Given the description of an element on the screen output the (x, y) to click on. 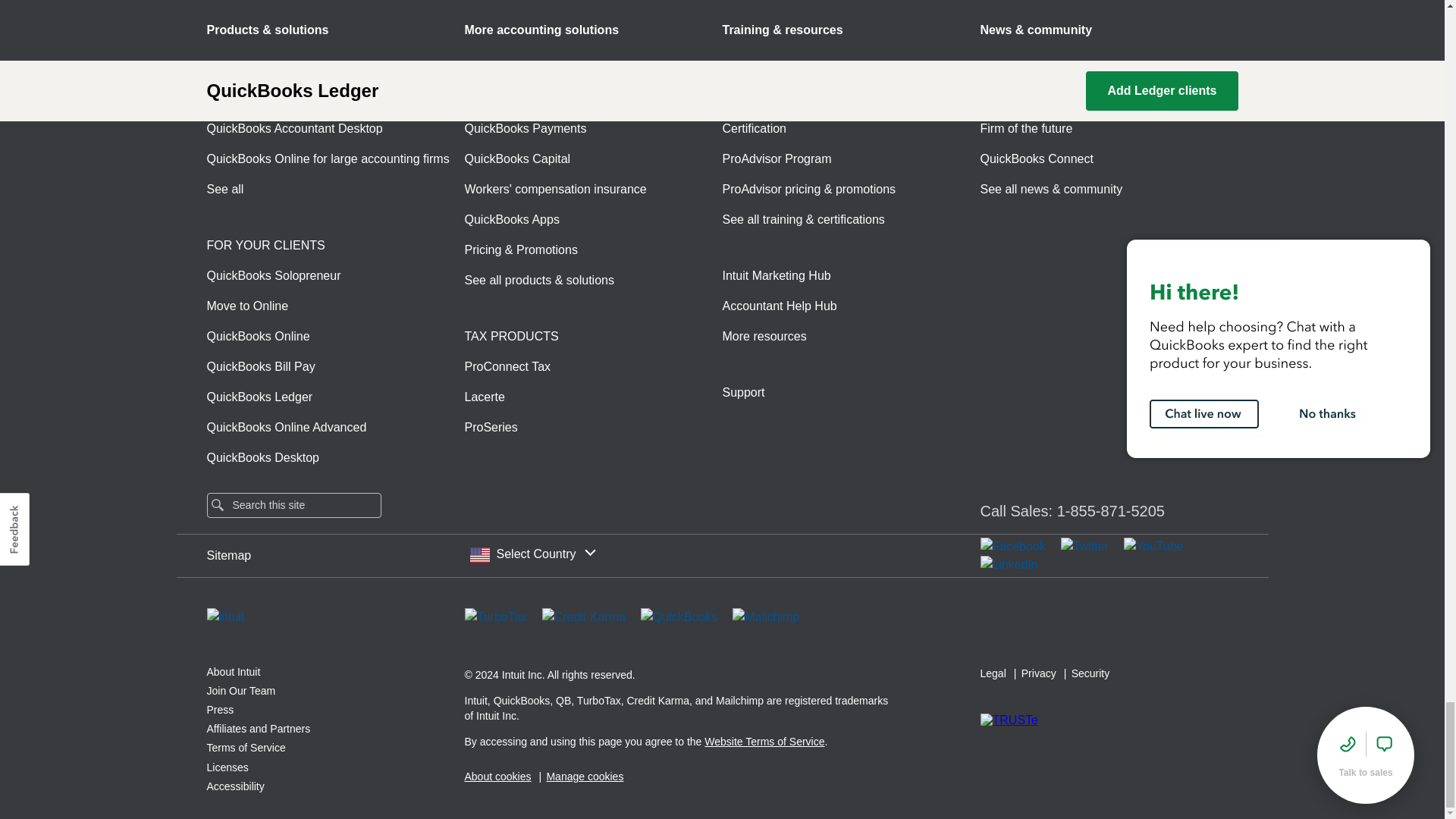
QuickBooks Online Accountant (289, 98)
Search (216, 504)
Search (216, 504)
